Given the description of an element on the screen output the (x, y) to click on. 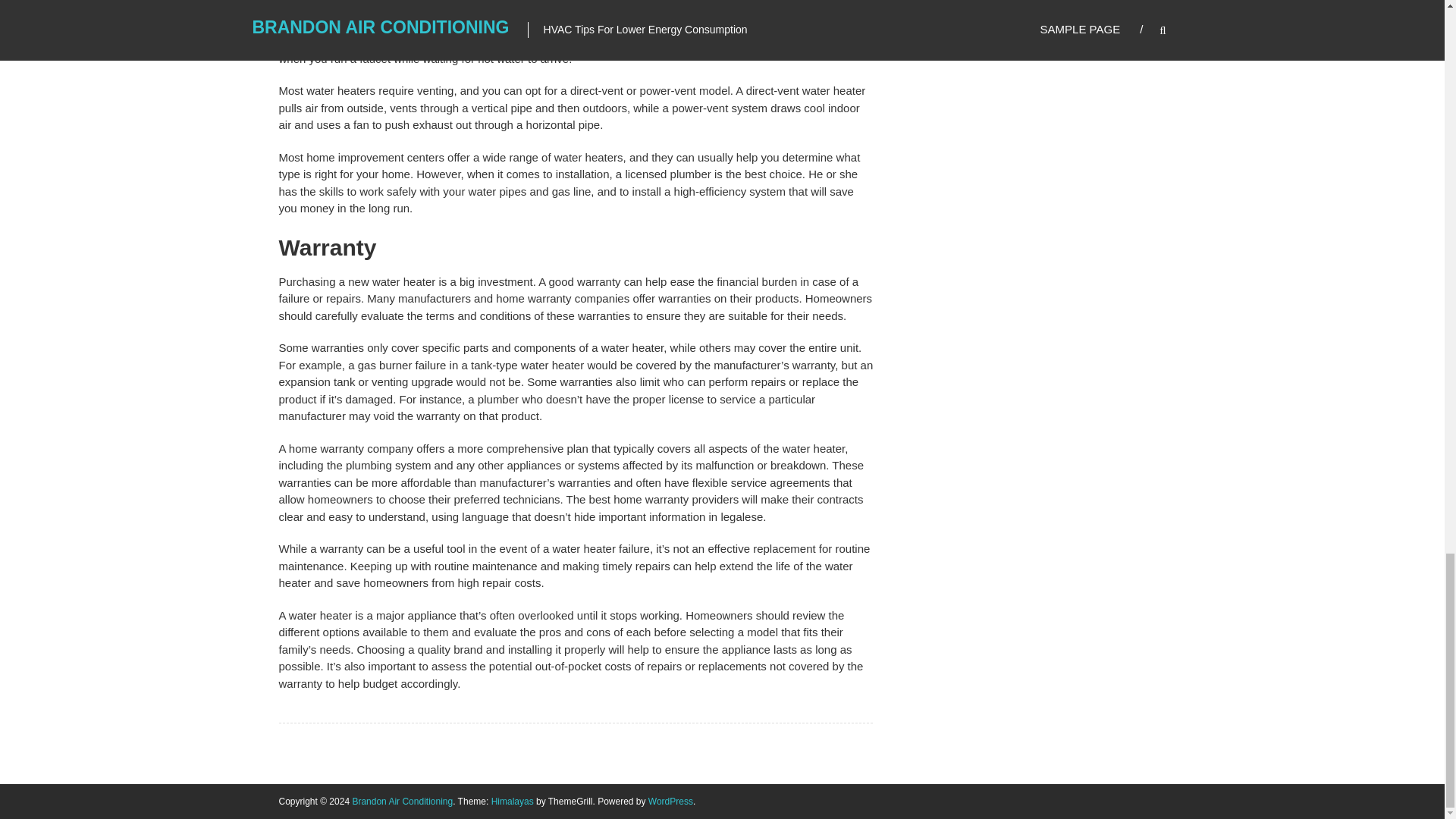
Himalayas (513, 801)
Himalayas (513, 801)
WordPress (670, 801)
Brandon Air Conditioning (402, 801)
Brandon Air Conditioning (402, 801)
WordPress (670, 801)
